Given the description of an element on the screen output the (x, y) to click on. 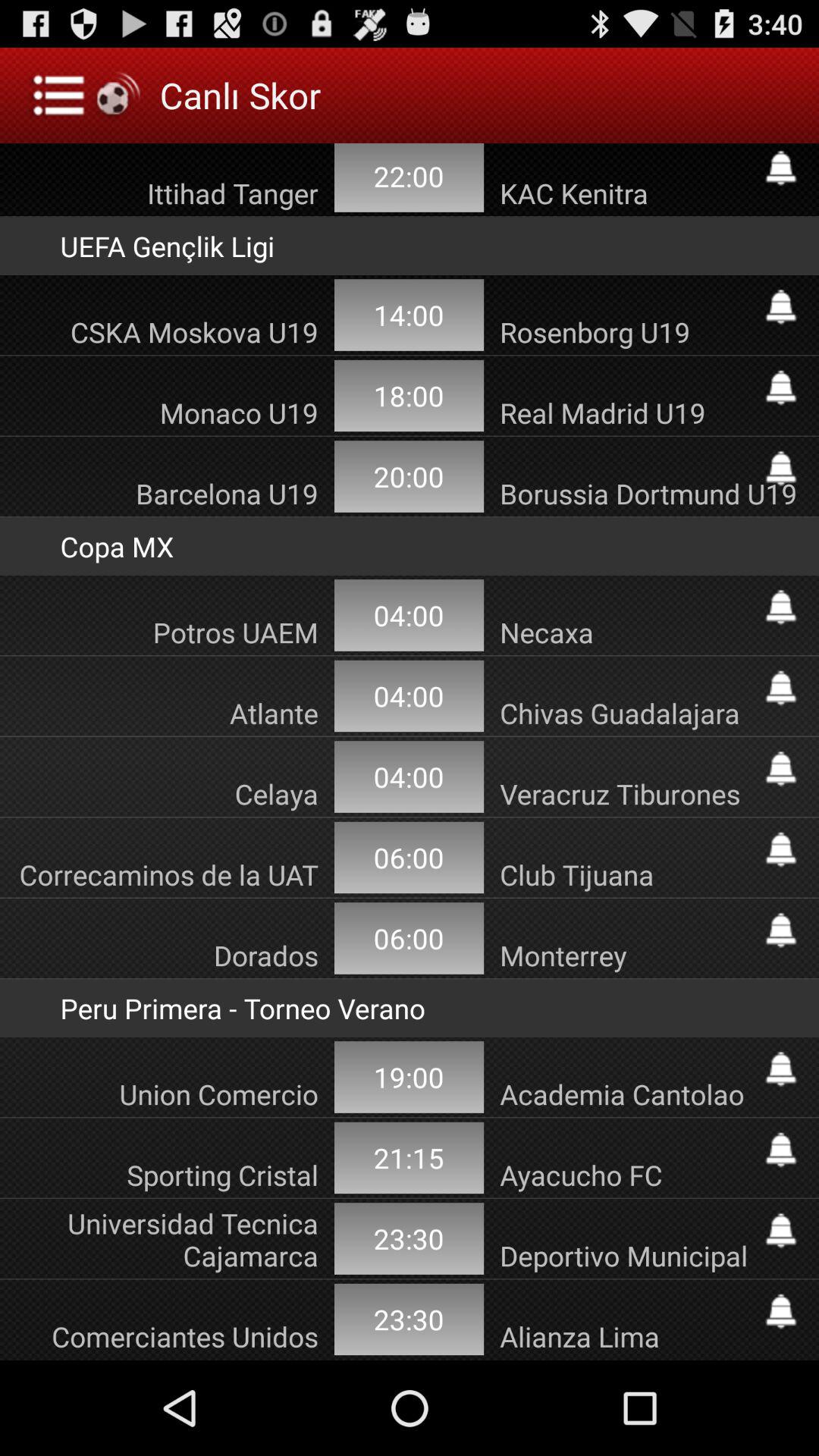
turn on notifications (780, 849)
